Given the description of an element on the screen output the (x, y) to click on. 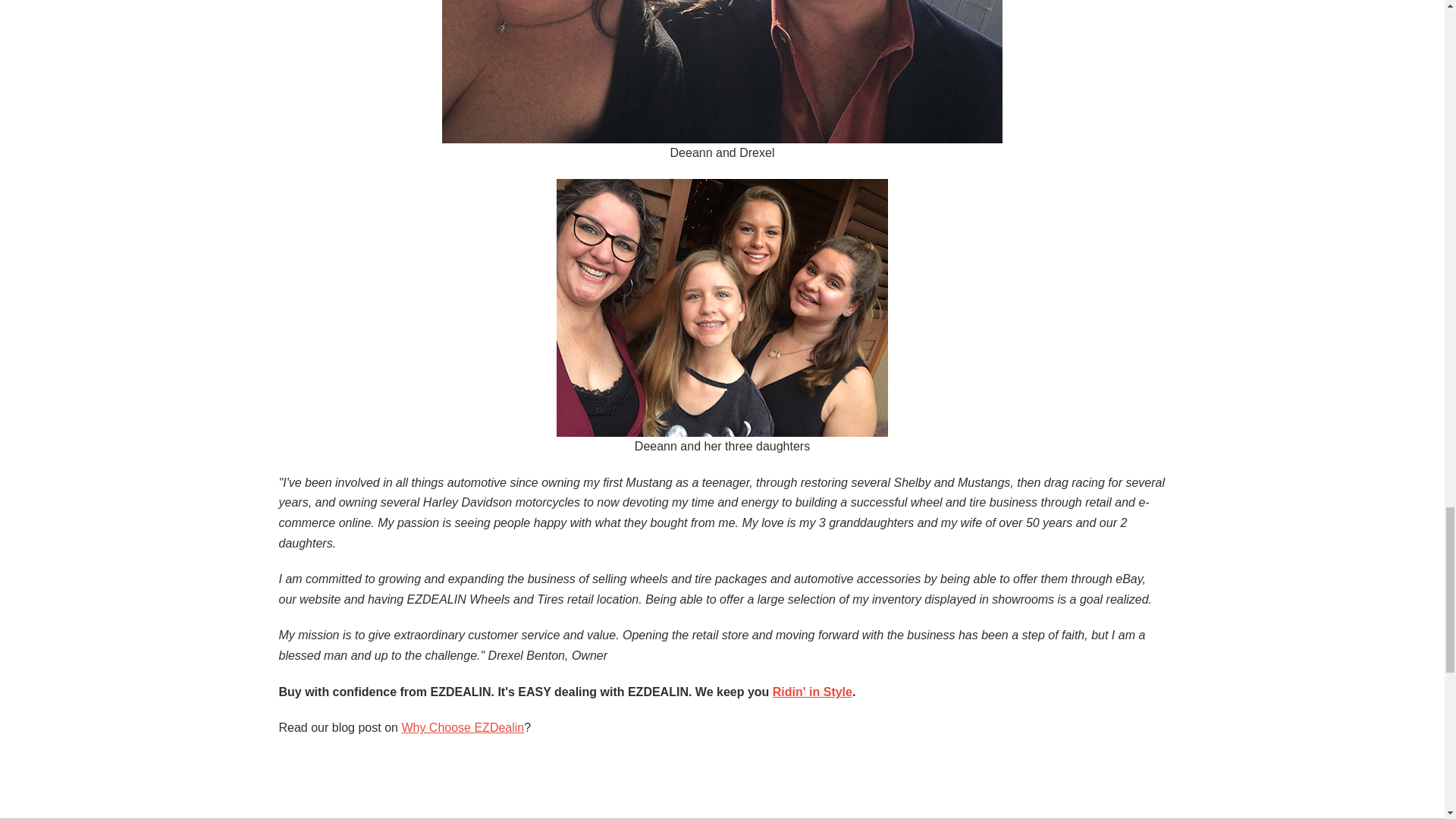
drexelanddeeann2.jpg (722, 71)
deeann-girls.jpg (722, 307)
